Given the description of an element on the screen output the (x, y) to click on. 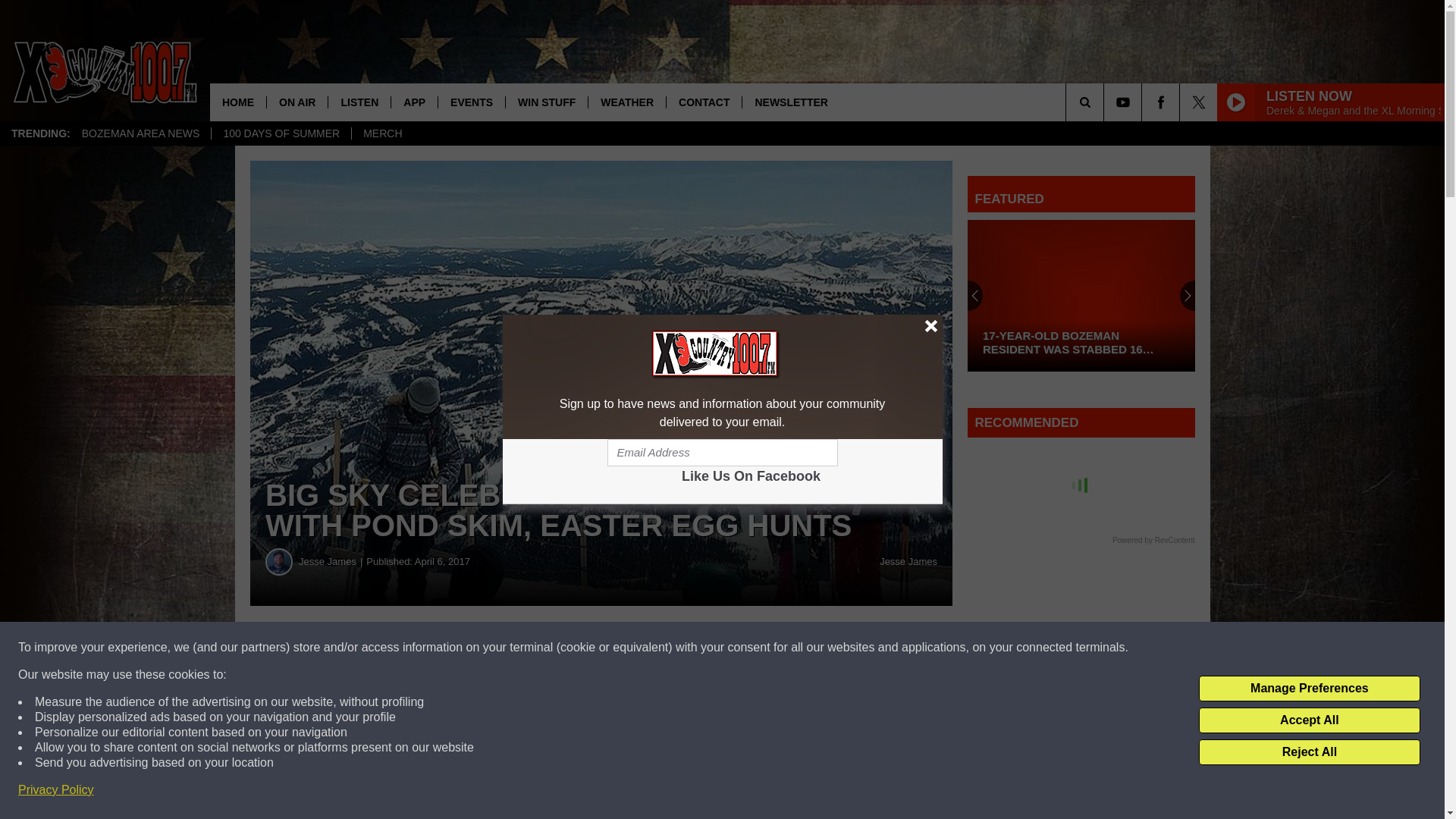
EVENTS (471, 102)
SEARCH (1106, 102)
LISTEN (358, 102)
Accept All (1309, 720)
Privacy Policy (55, 789)
Share on Facebook (460, 647)
Reject All (1309, 751)
HOME (237, 102)
APP (414, 102)
CONTACT (703, 102)
WEATHER (626, 102)
Share on Twitter (741, 647)
MERCH (381, 133)
ON AIR (296, 102)
100 DAYS OF SUMMER (280, 133)
